Given the description of an element on the screen output the (x, y) to click on. 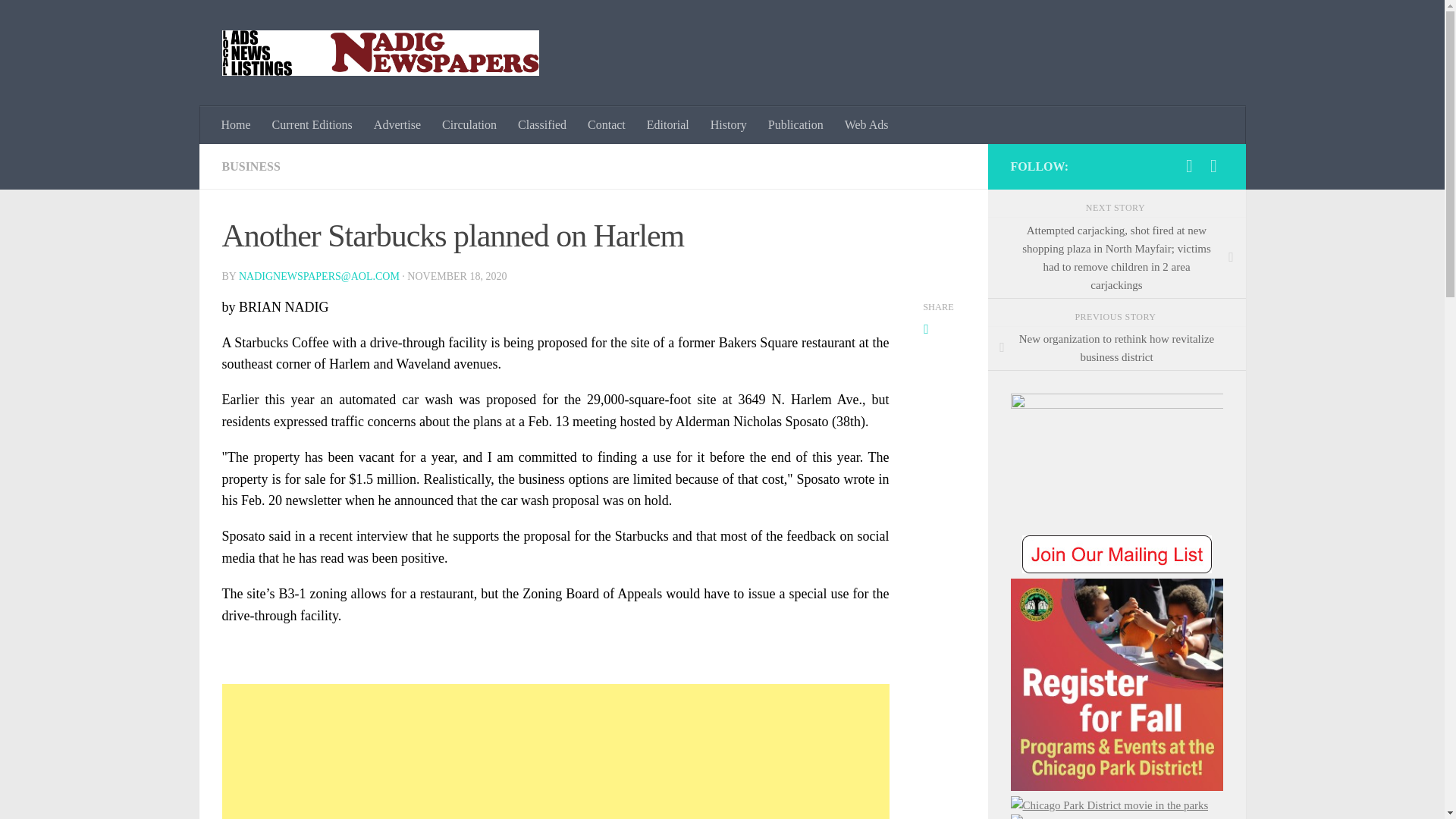
New organization to rethink how revitalize business district (1115, 348)
Editorial (668, 125)
Follow us on Facebook (1188, 166)
Contact (606, 125)
History (728, 125)
BUSINESS (250, 165)
Circulation (468, 125)
Home (236, 125)
Classified (541, 125)
Follow us on Twitter (1213, 166)
